Given the description of an element on the screen output the (x, y) to click on. 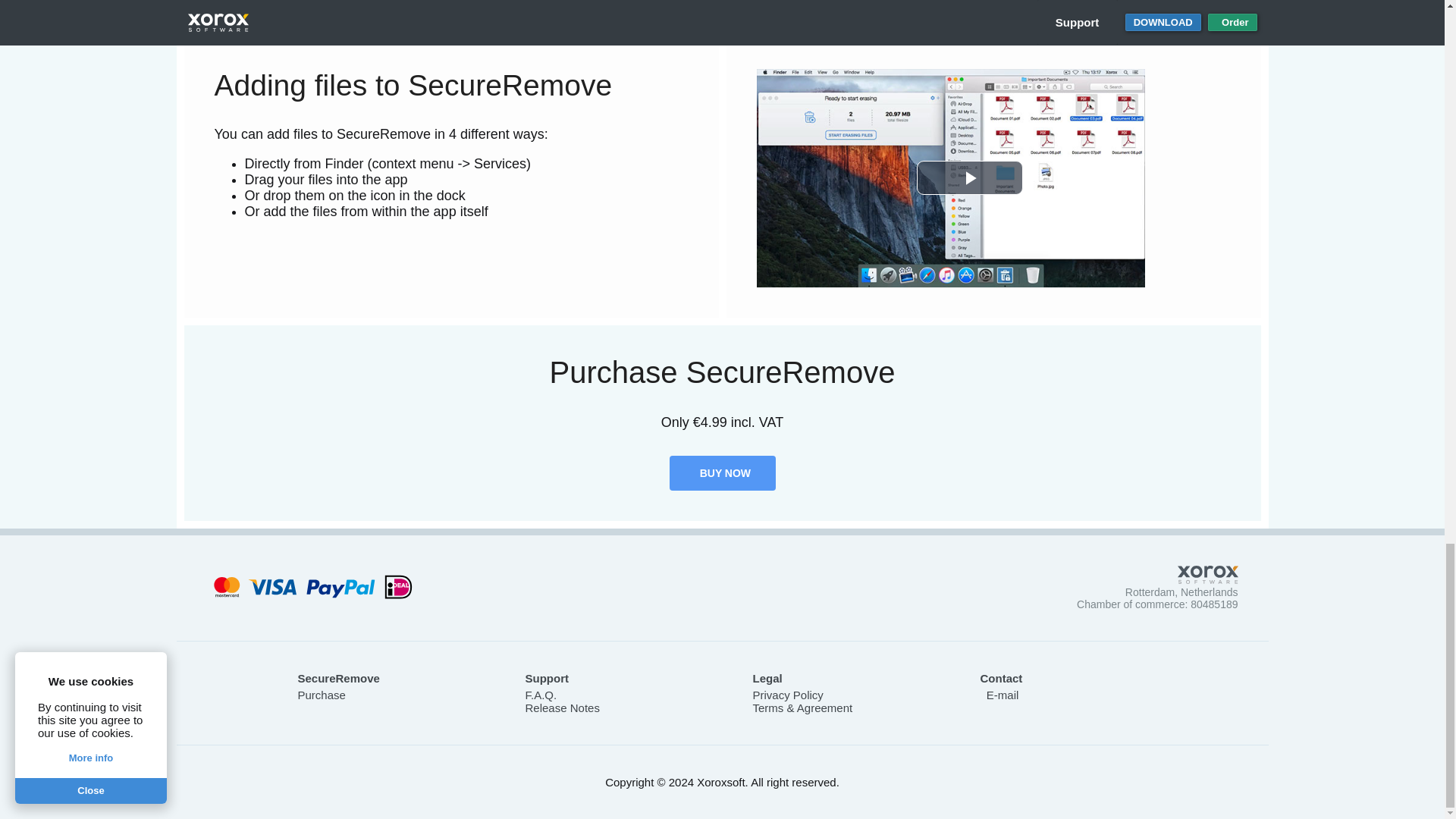
  BUY NOW (721, 472)
F.A.Q. (540, 694)
Play Video (968, 177)
Release Notes (561, 707)
  E-mail (998, 694)
Play Video (968, 177)
Purchase (321, 694)
Legal (766, 677)
SecureRemove (337, 677)
Support (546, 677)
Contact (1000, 677)
Privacy Policy (787, 694)
